Given the description of an element on the screen output the (x, y) to click on. 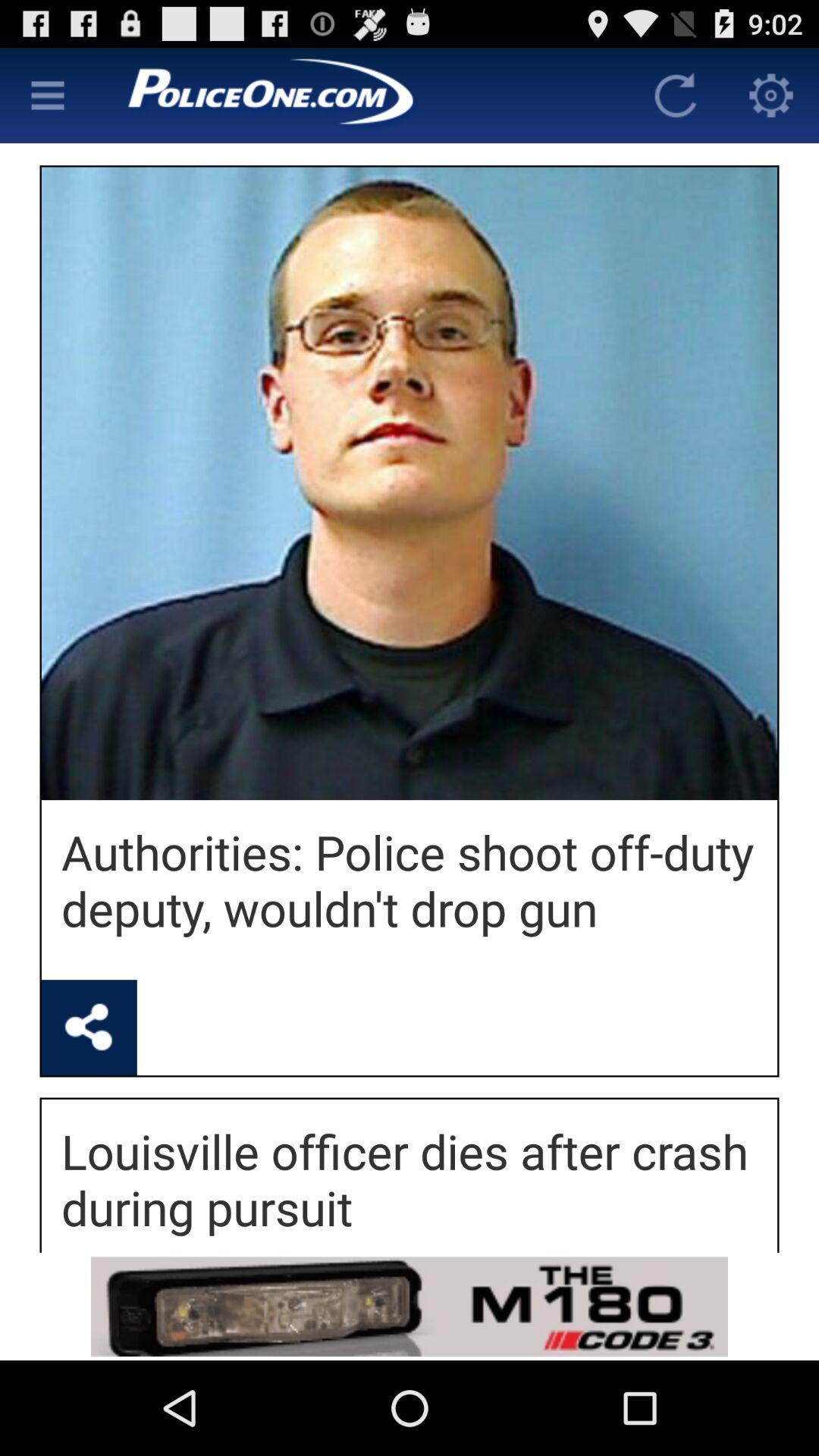
settings (47, 95)
